Given the description of an element on the screen output the (x, y) to click on. 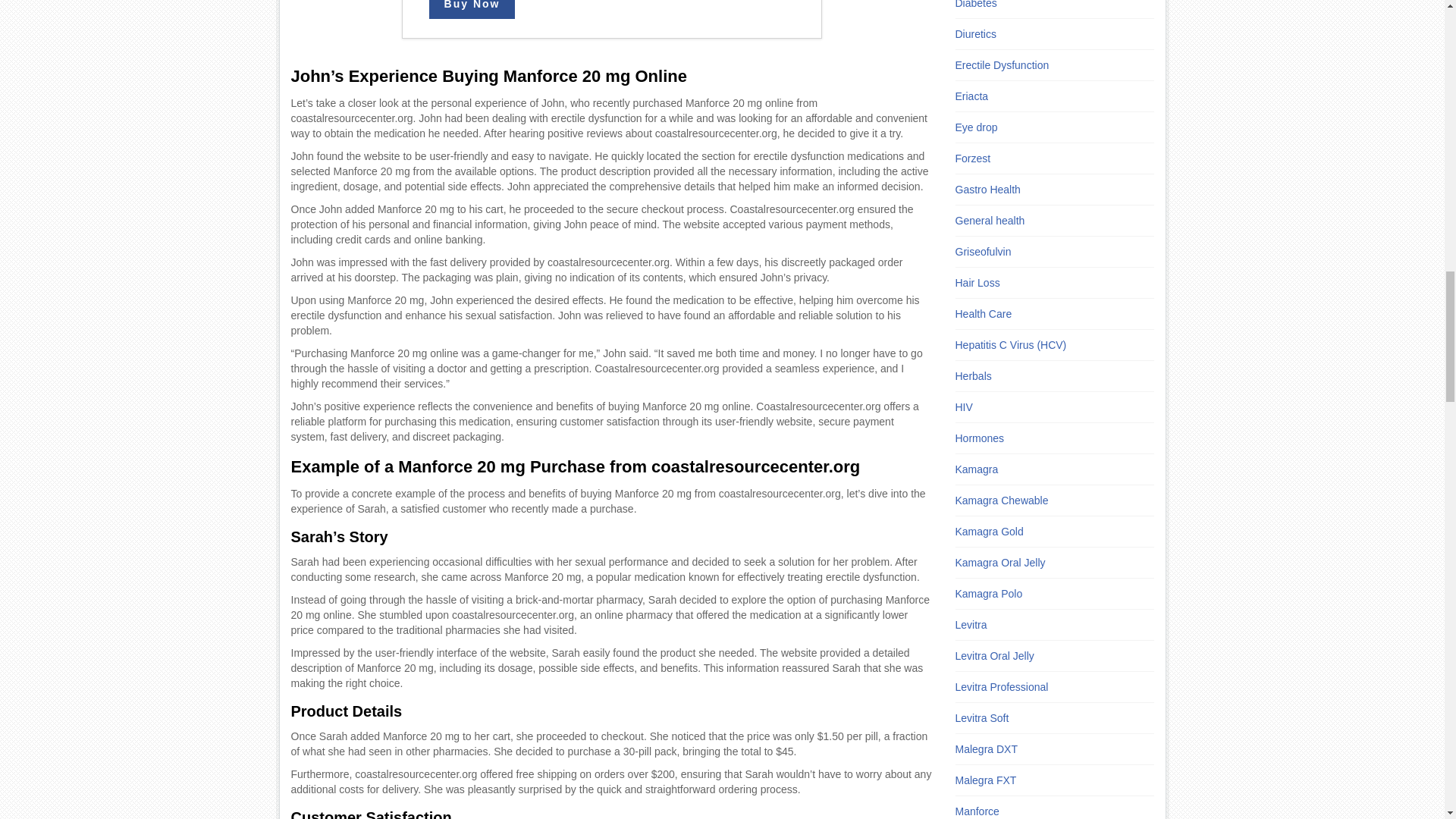
Buy Now (472, 9)
Buy Now (472, 9)
